Given the description of an element on the screen output the (x, y) to click on. 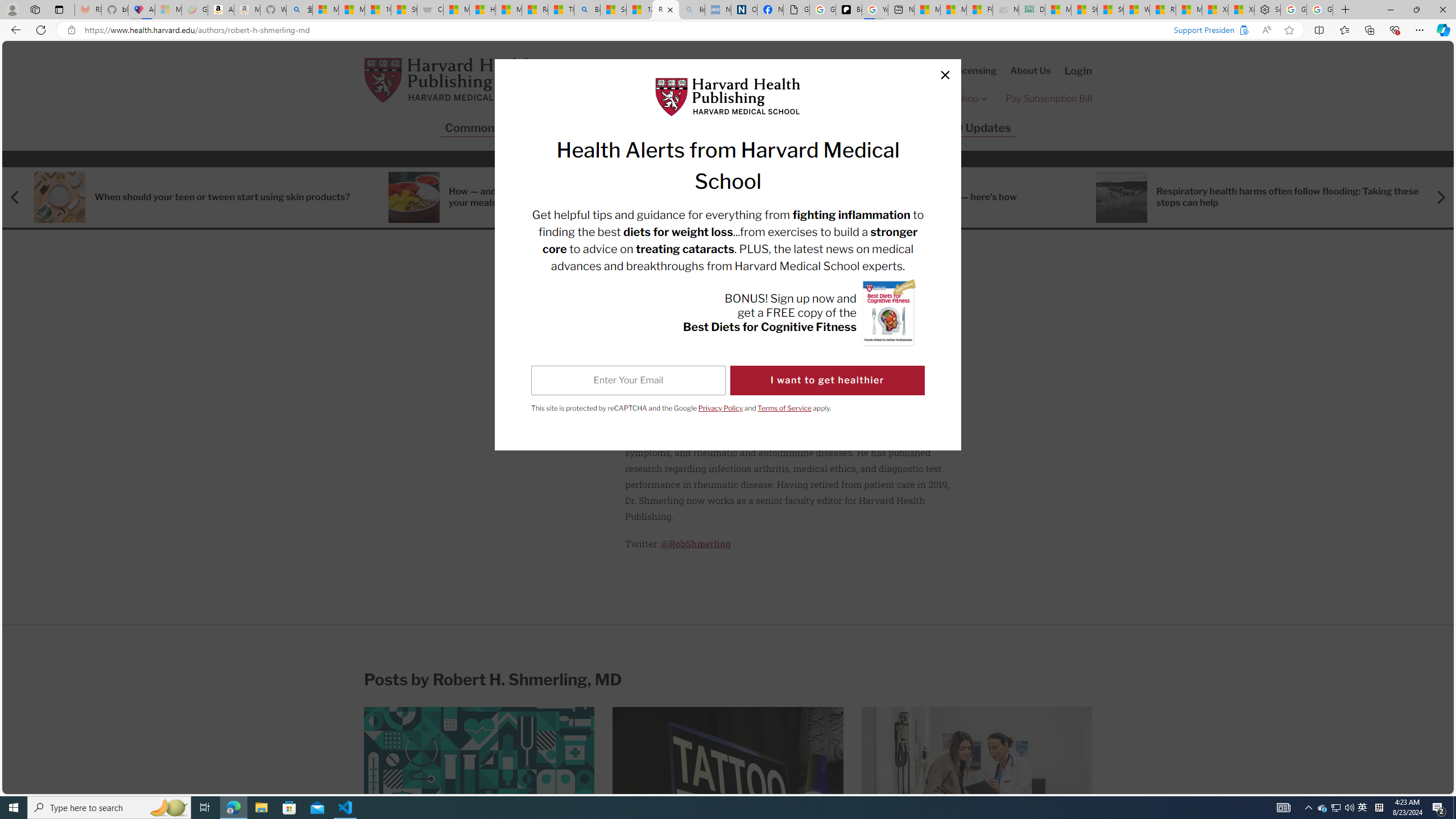
Shop (972, 98)
Staying Healthy (644, 127)
Free HealthBeat Signup (888, 98)
How I Got Rid of Microsoft Edge's Unnecessary Features (482, 9)
